Given the description of an element on the screen output the (x, y) to click on. 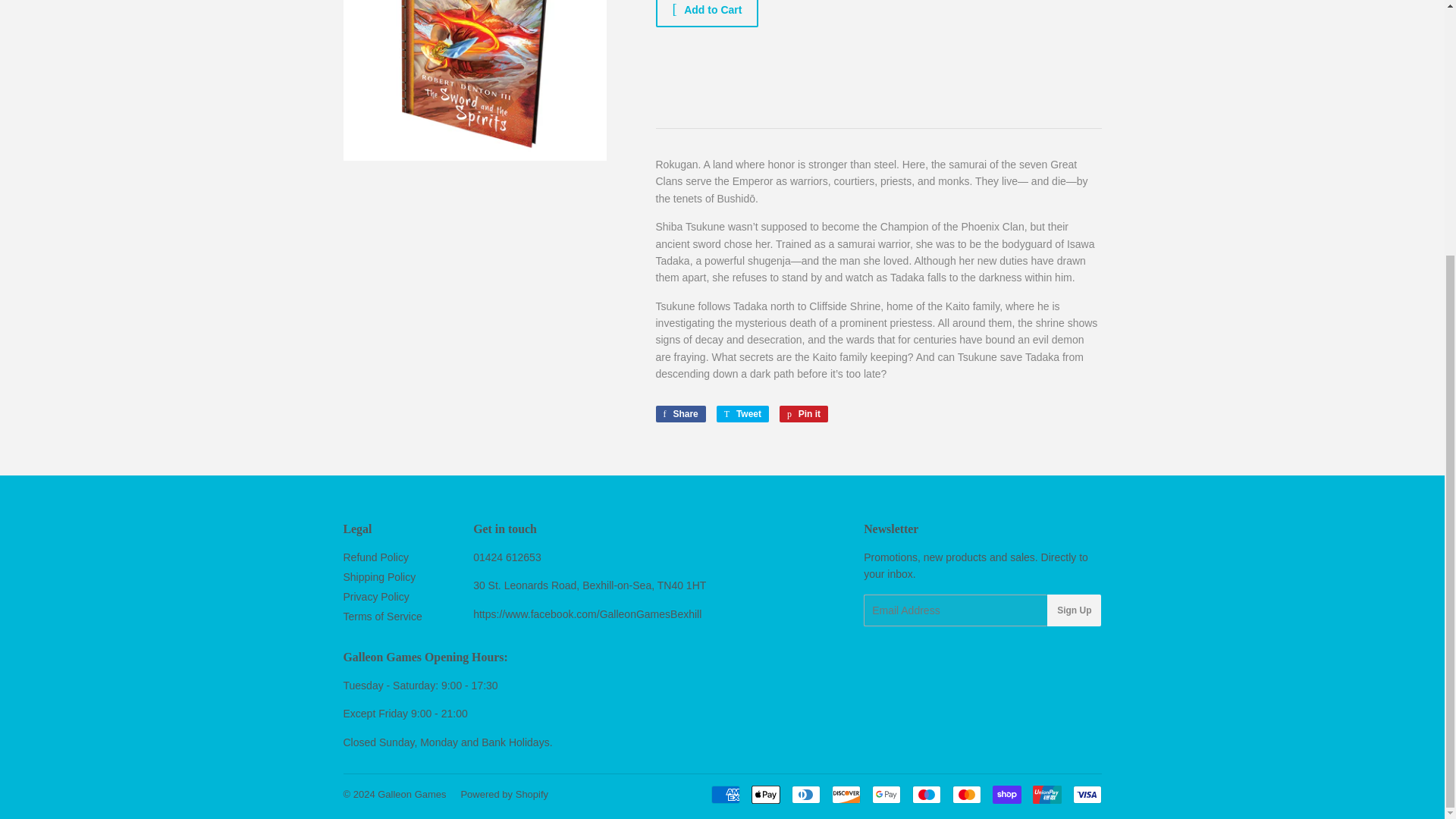
Pin on Pinterest (803, 413)
Share on Facebook (679, 413)
Google Pay (886, 794)
Discover (845, 794)
Mastercard (966, 794)
Union Pay (1046, 794)
Shop Pay (1005, 794)
Visa (1085, 794)
Apple Pay (764, 794)
Maestro (925, 794)
American Express (725, 794)
Tweet on Twitter (742, 413)
Diners Club (806, 794)
